Given the description of an element on the screen output the (x, y) to click on. 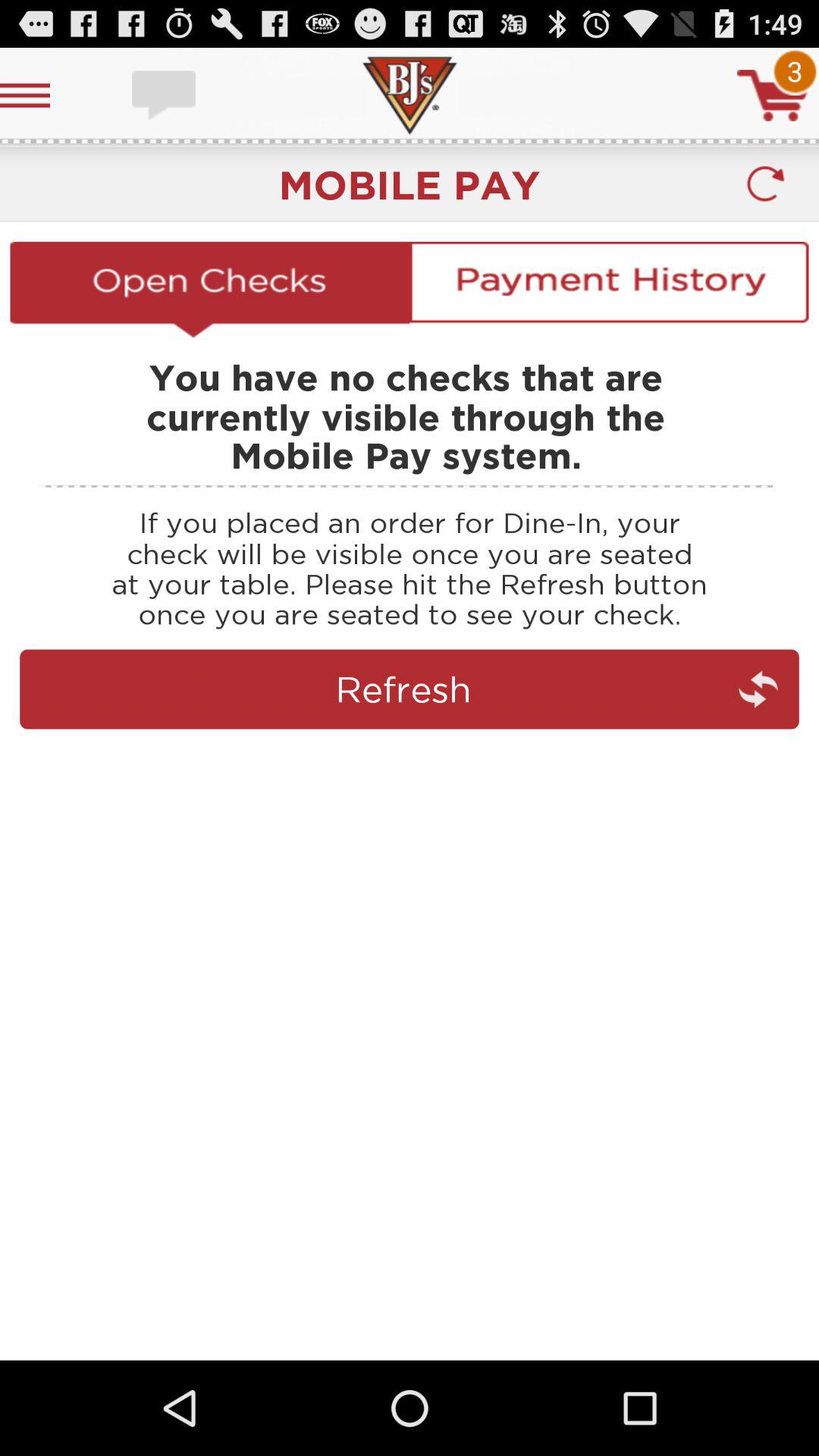
refresh current page (409, 755)
